Given the description of an element on the screen output the (x, y) to click on. 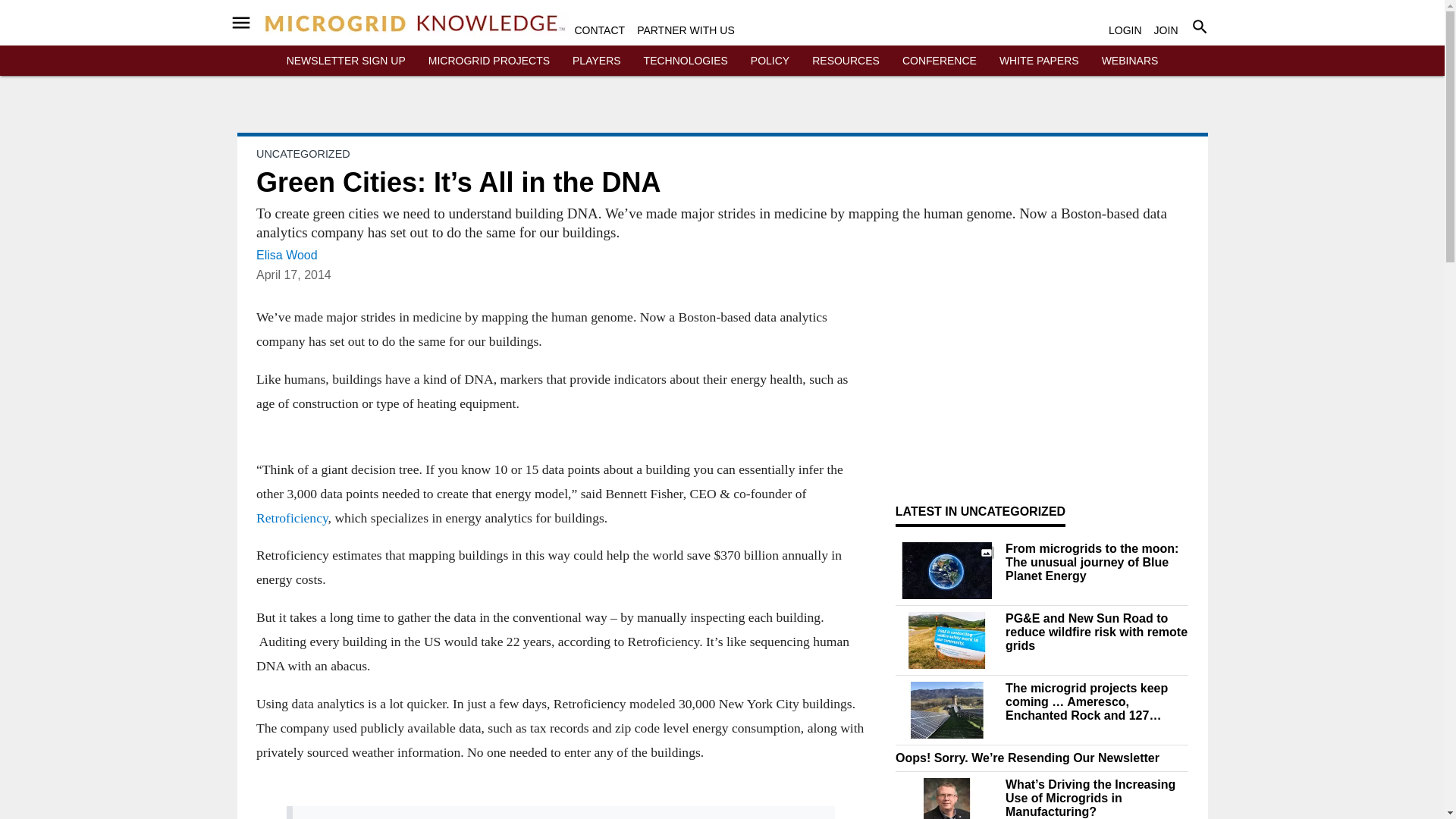
CONFERENCE (939, 60)
WEBINARS (1130, 60)
JOIN (1165, 30)
MICROGRID PROJECTS (489, 60)
NEWSLETTER SIGN UP (346, 60)
TECHNOLOGIES (685, 60)
POLICY (770, 60)
LOGIN (1124, 30)
RESOURCES (845, 60)
PARTNER WITH US (686, 30)
